Given the description of an element on the screen output the (x, y) to click on. 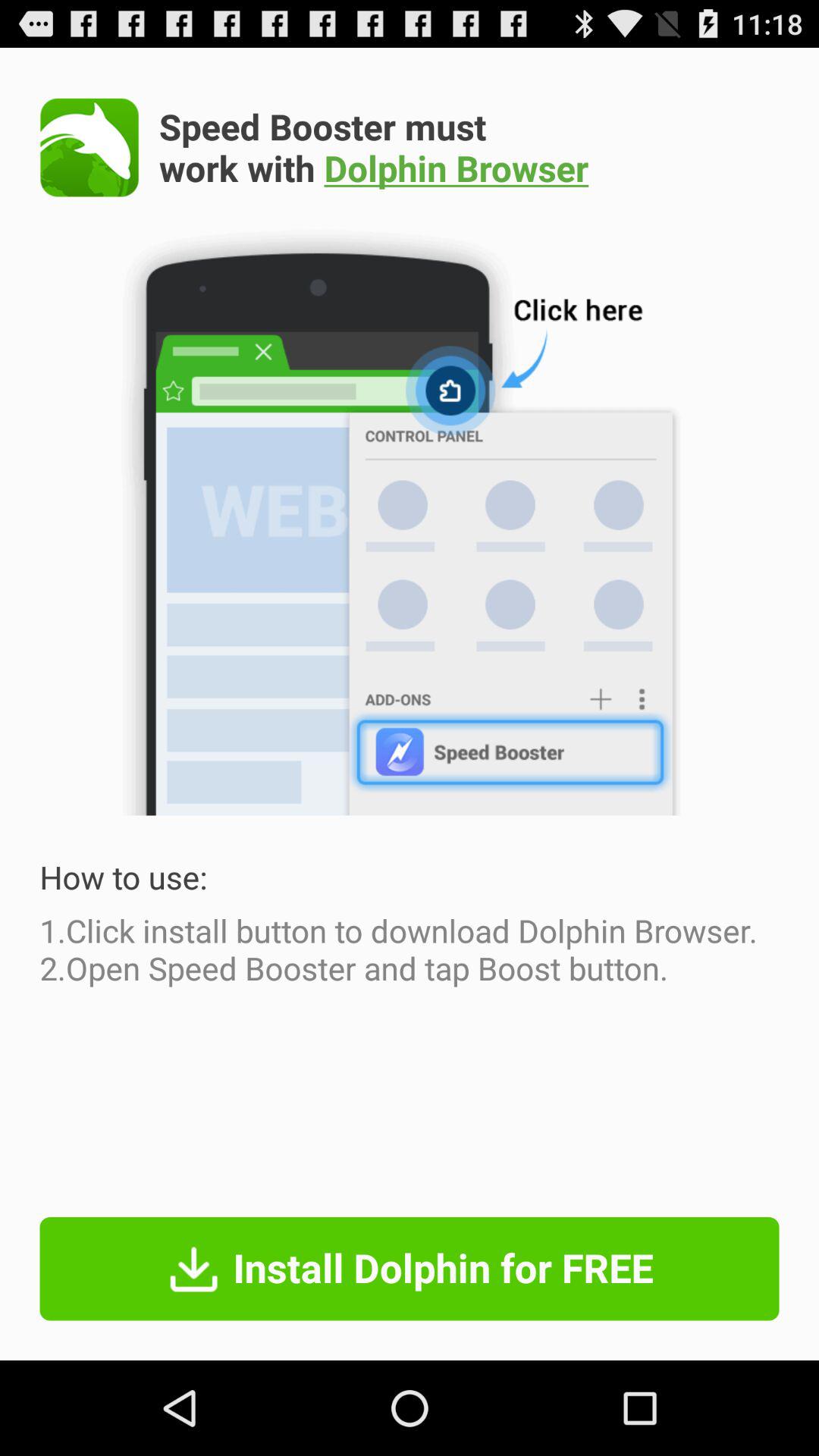
tap the icon at the top left corner (89, 147)
